Given the description of an element on the screen output the (x, y) to click on. 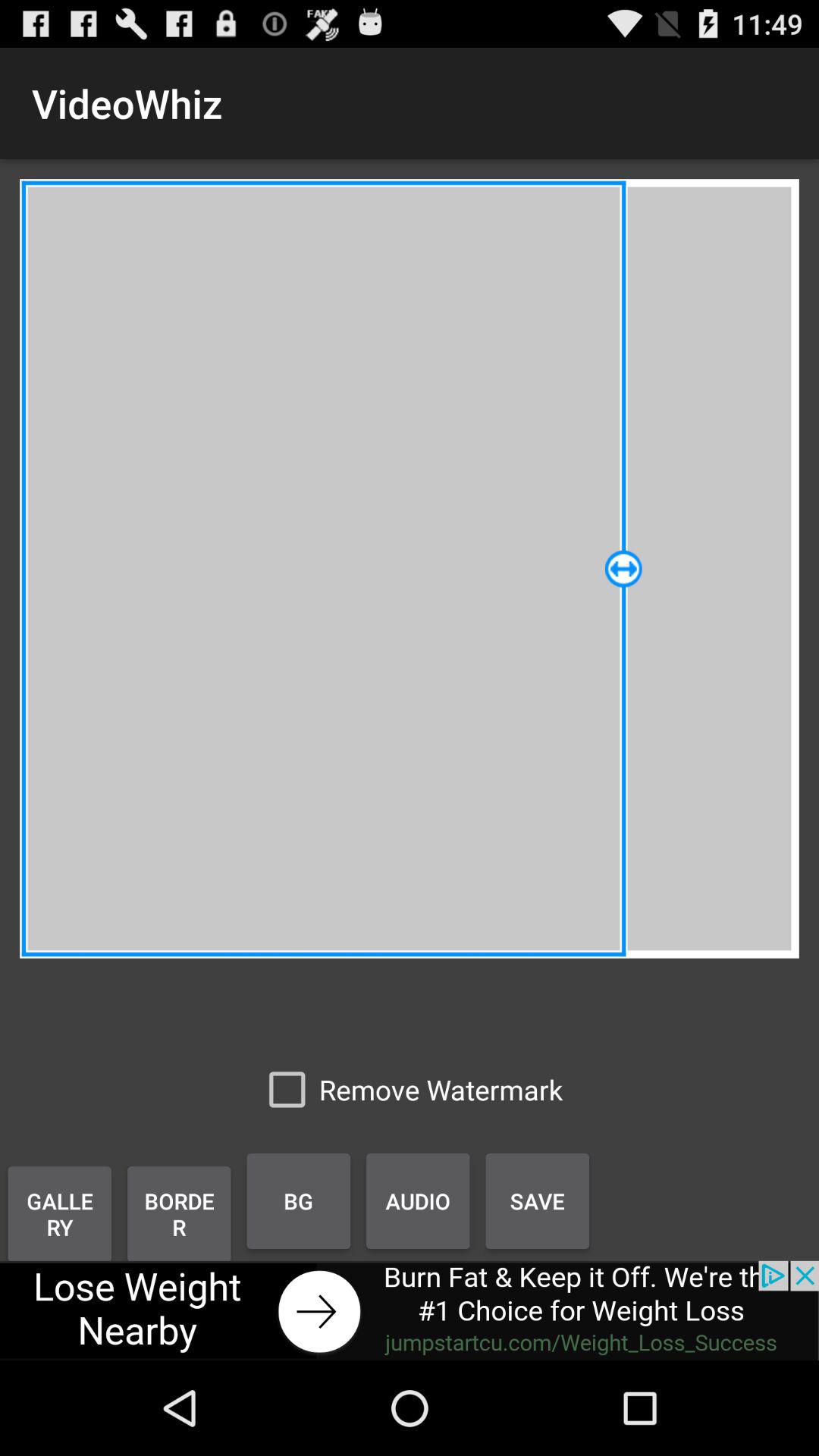
advertisement (409, 1310)
